Given the description of an element on the screen output the (x, y) to click on. 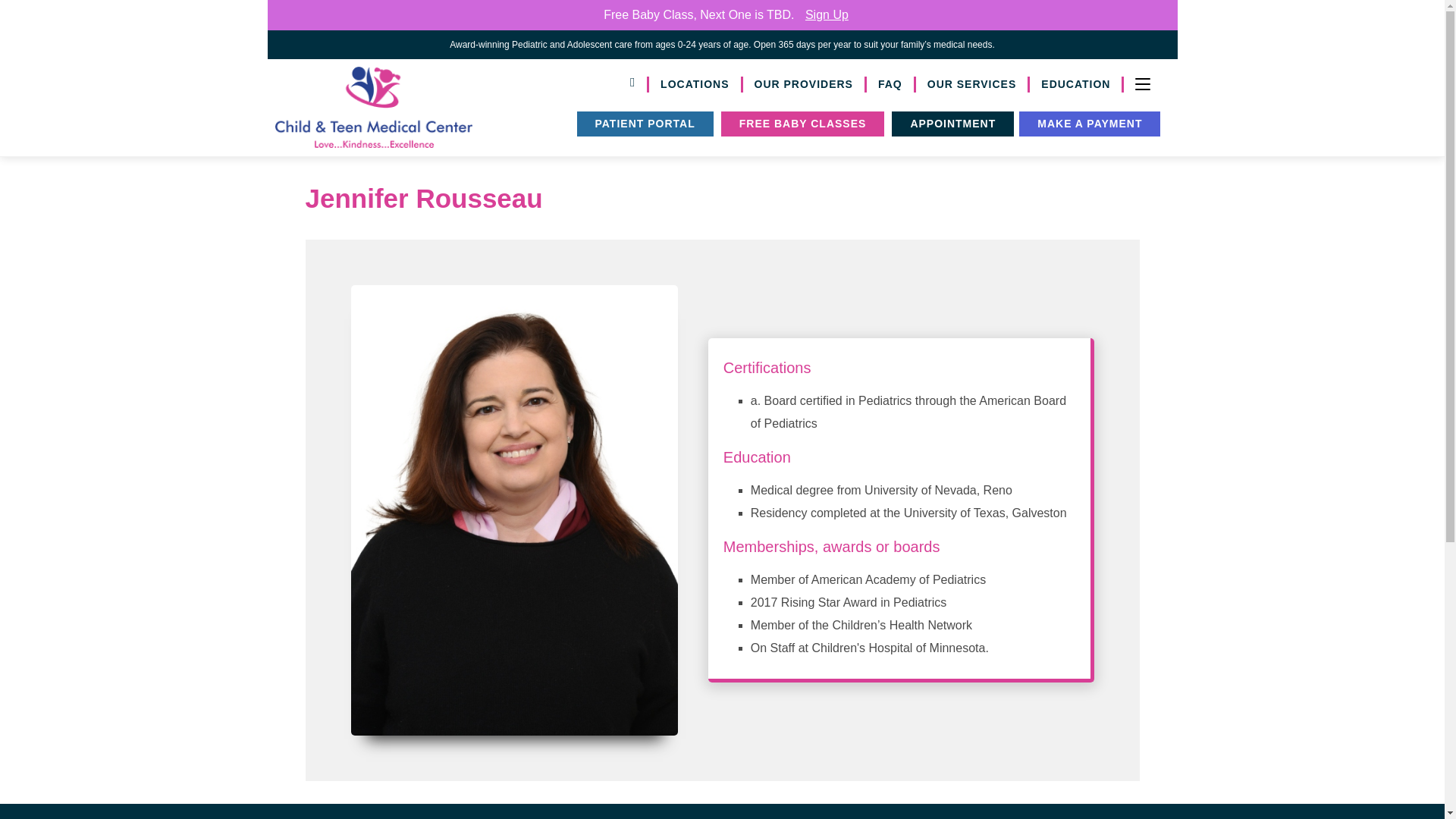
PATIENT PORTAL (644, 123)
Sign Up (826, 14)
FAQ (890, 84)
APPOINTMENT (952, 123)
MAKE A PAYMENT (1089, 123)
EDUCATION (1076, 84)
OUR SERVICES (972, 84)
FREE BABY CLASSES (802, 123)
LOCATIONS (695, 84)
OUR PROVIDERS (804, 84)
